Given the description of an element on the screen output the (x, y) to click on. 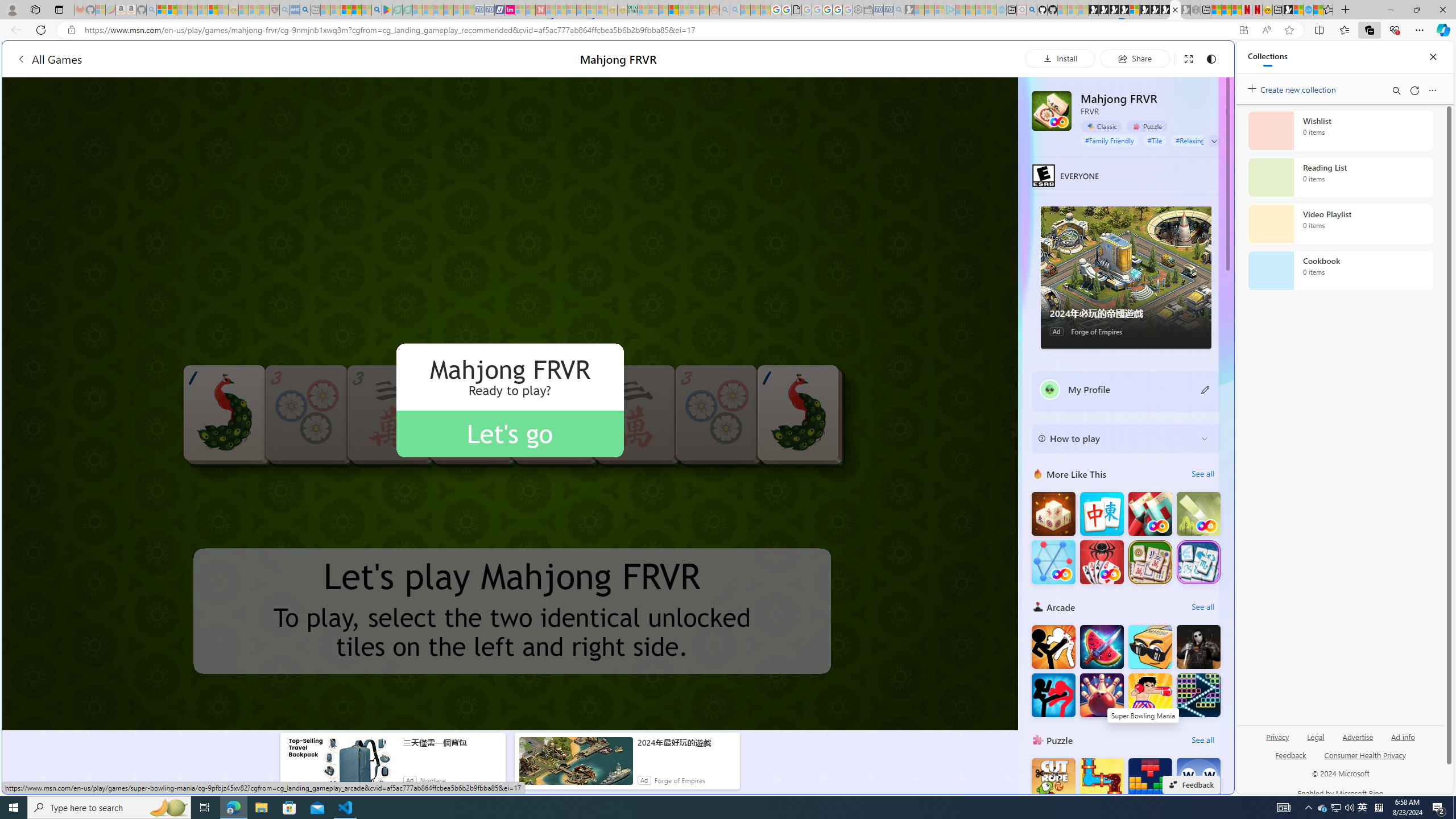
Tabs you've opened (885, 151)
google_privacy_policy_zh-CN.pdf (1118, 683)
